Given the description of an element on the screen output the (x, y) to click on. 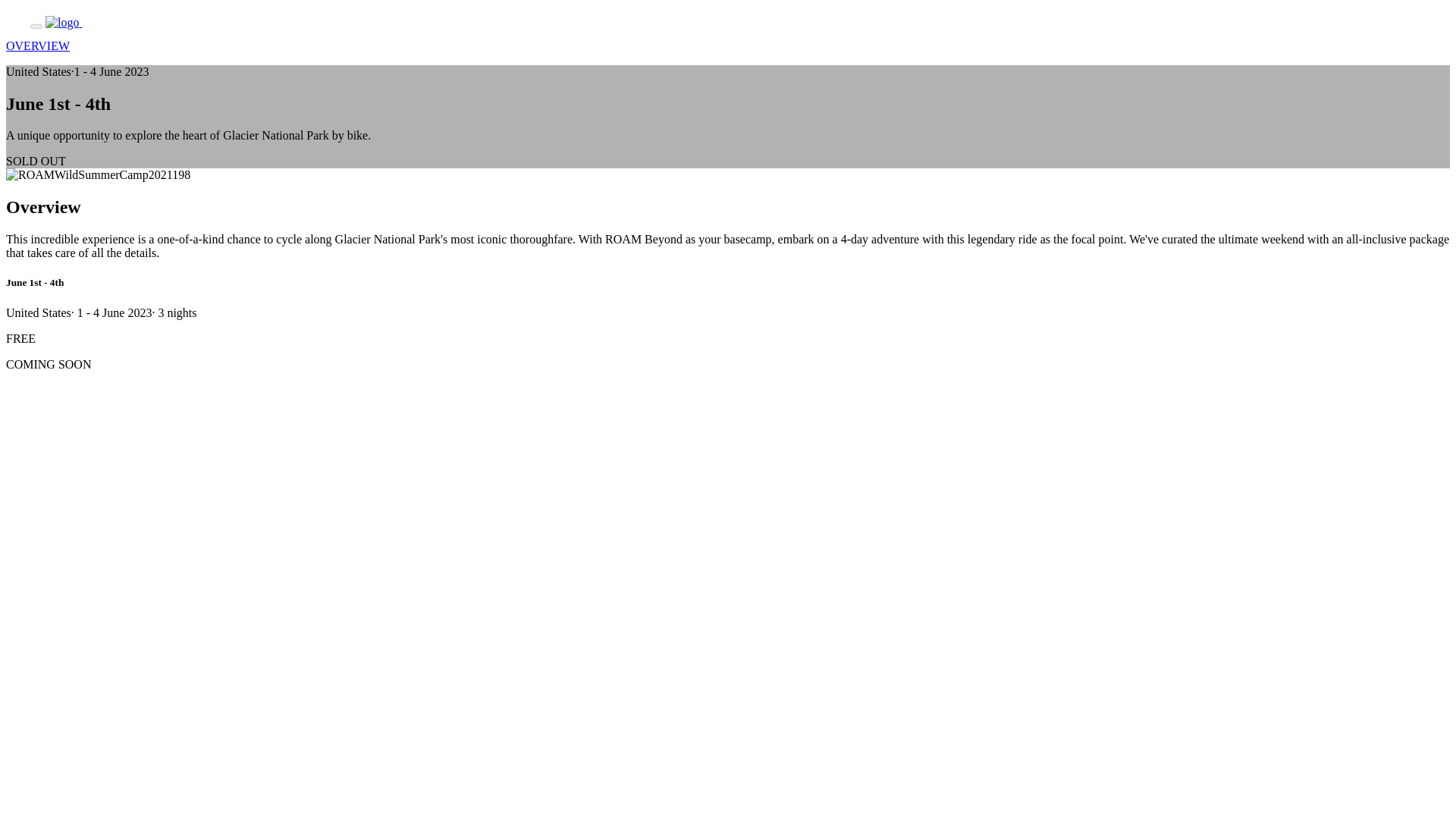
SOLD OUT (35, 160)
OVERVIEW (37, 45)
CONTACT US (152, 22)
